Given the description of an element on the screen output the (x, y) to click on. 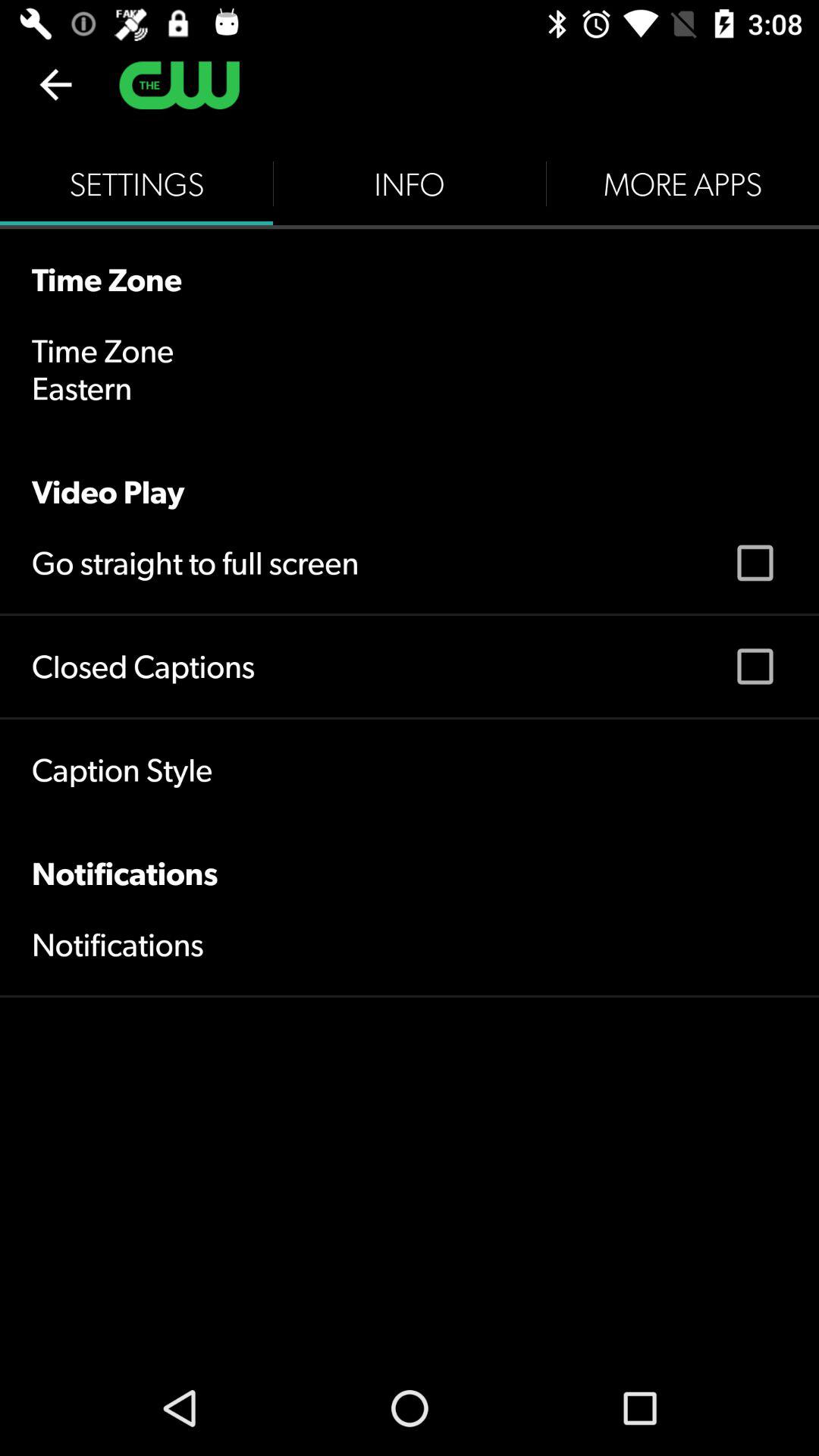
click the eastern icon (81, 388)
